Given the description of an element on the screen output the (x, y) to click on. 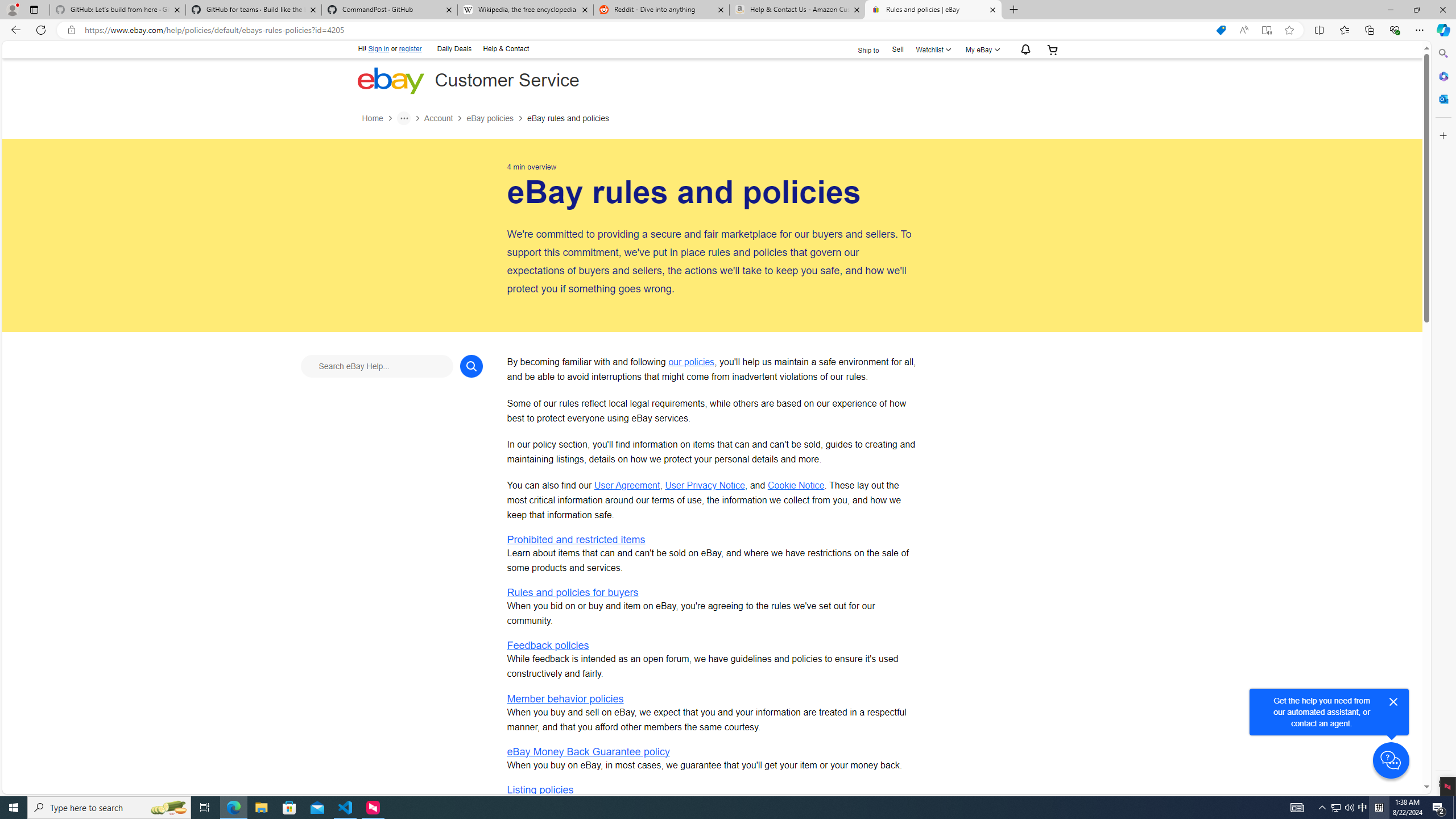
Help & Contact (505, 48)
eBay policies (496, 117)
Feedback policies (547, 645)
Expand Cart (1052, 49)
eBay Home (389, 80)
My eBay (981, 49)
Watchlist (933, 49)
WatchlistExpand Watch List (933, 49)
